Given the description of an element on the screen output the (x, y) to click on. 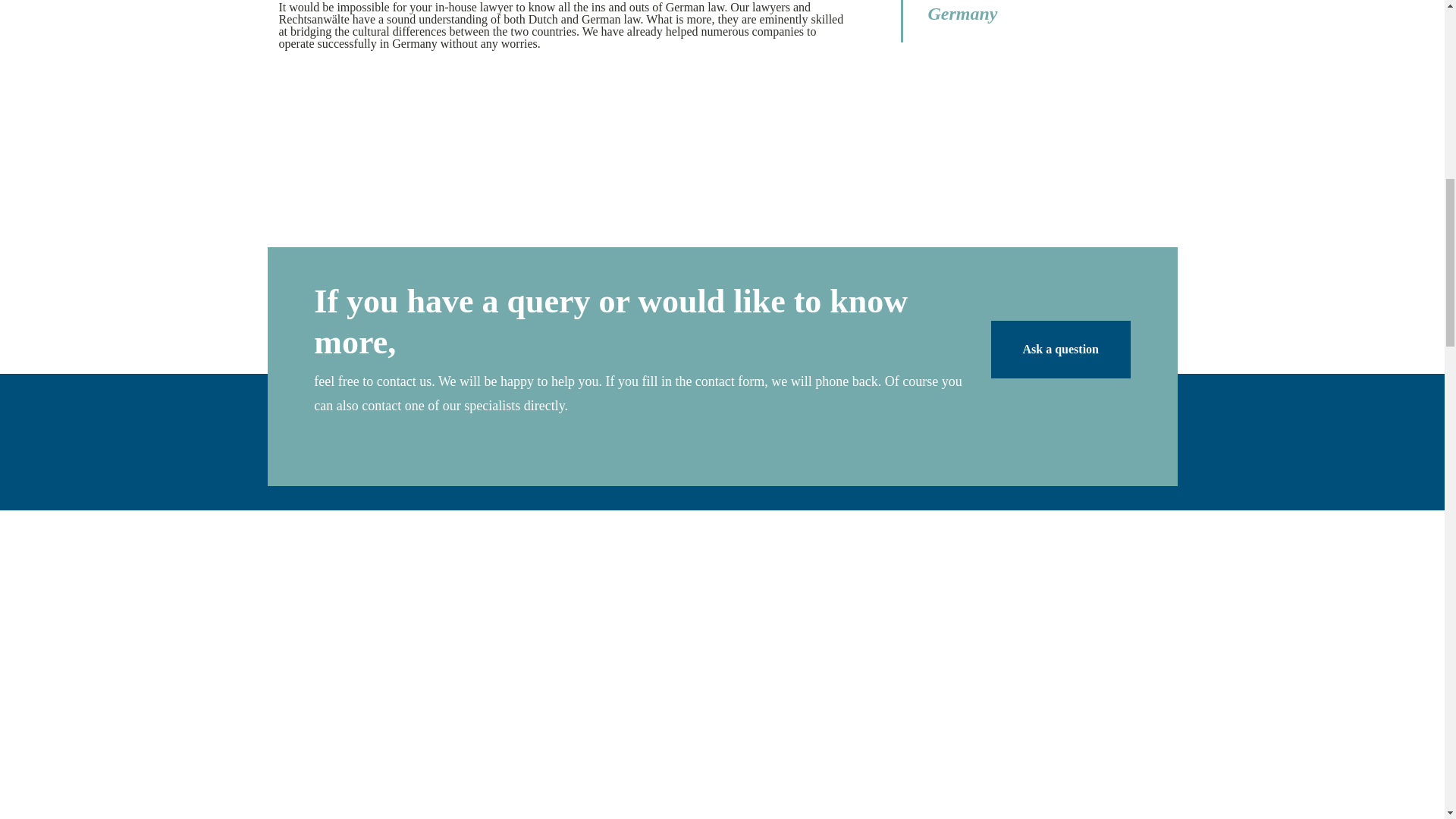
Contact (1061, 350)
Ask a question (1061, 350)
